Given the description of an element on the screen output the (x, y) to click on. 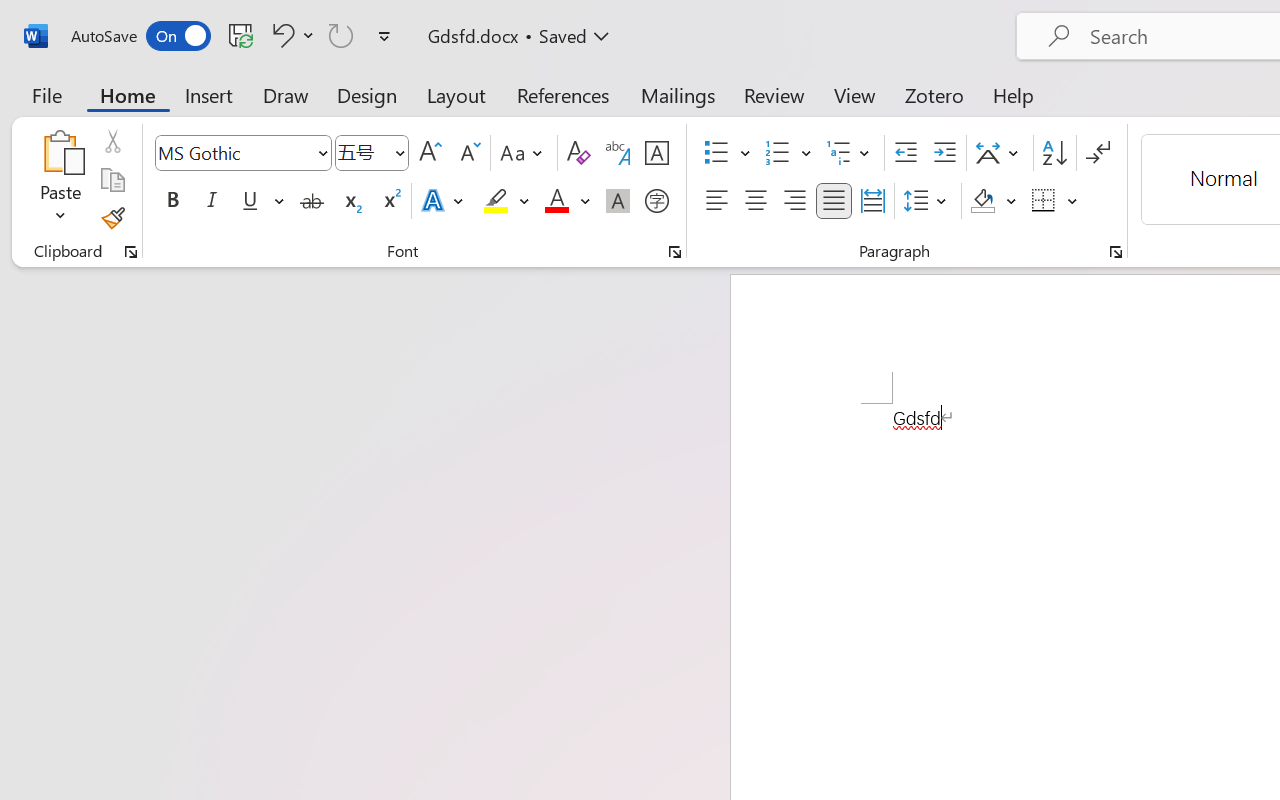
Undo Font Formatting (290, 35)
